Given the description of an element on the screen output the (x, y) to click on. 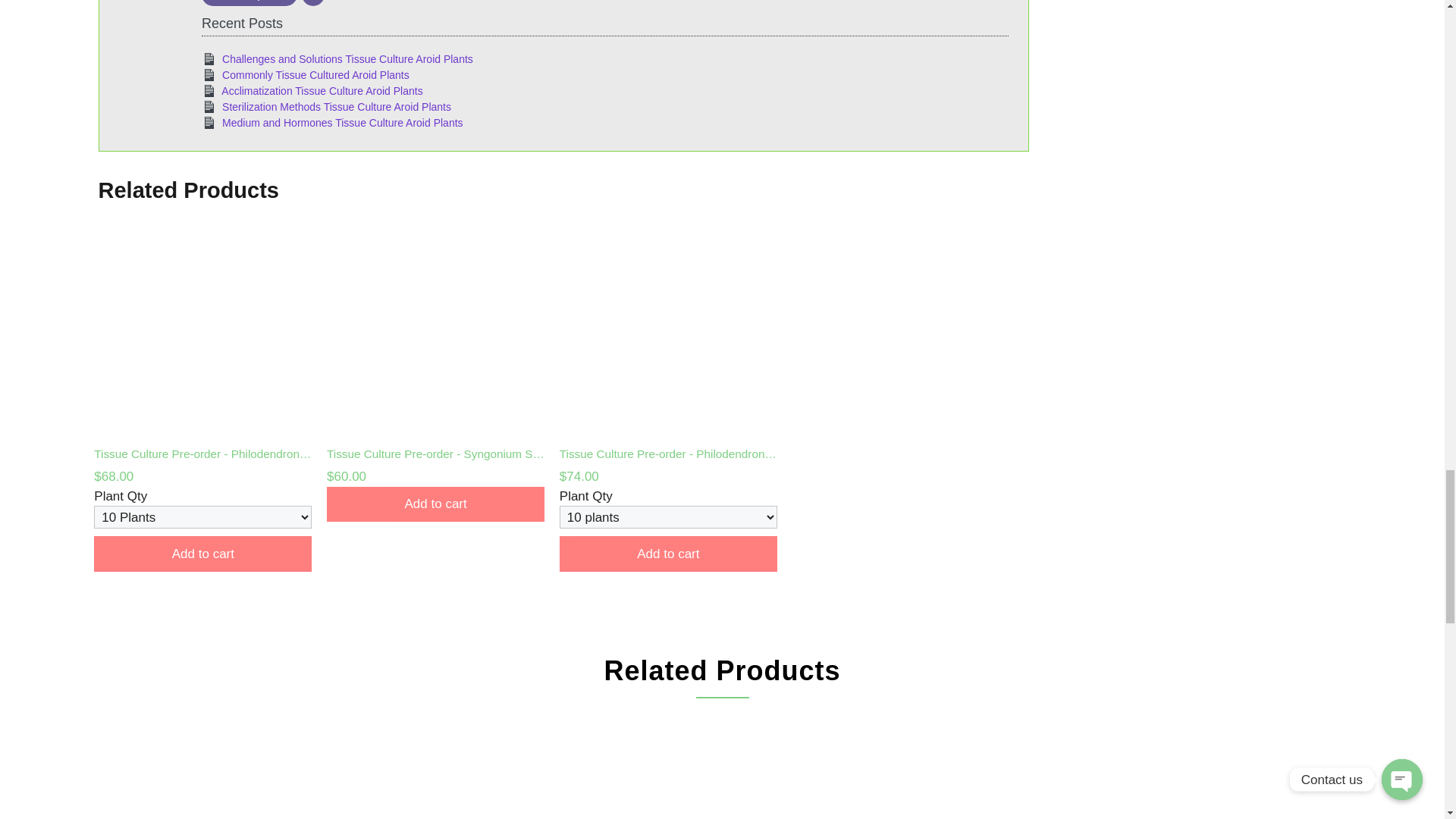
Challenges and Solutions Tissue Culture Aroid Plants (347, 59)
Sterilization Methods Tissue Culture Aroid Plants (336, 106)
Acclimatization Tissue Culture Aroid Plants (321, 91)
Commonly Tissue Cultured Aroid Plants (315, 74)
View all posts (249, 2)
Medium and Hormones Tissue Culture Aroid Plants (342, 122)
